Given the description of an element on the screen output the (x, y) to click on. 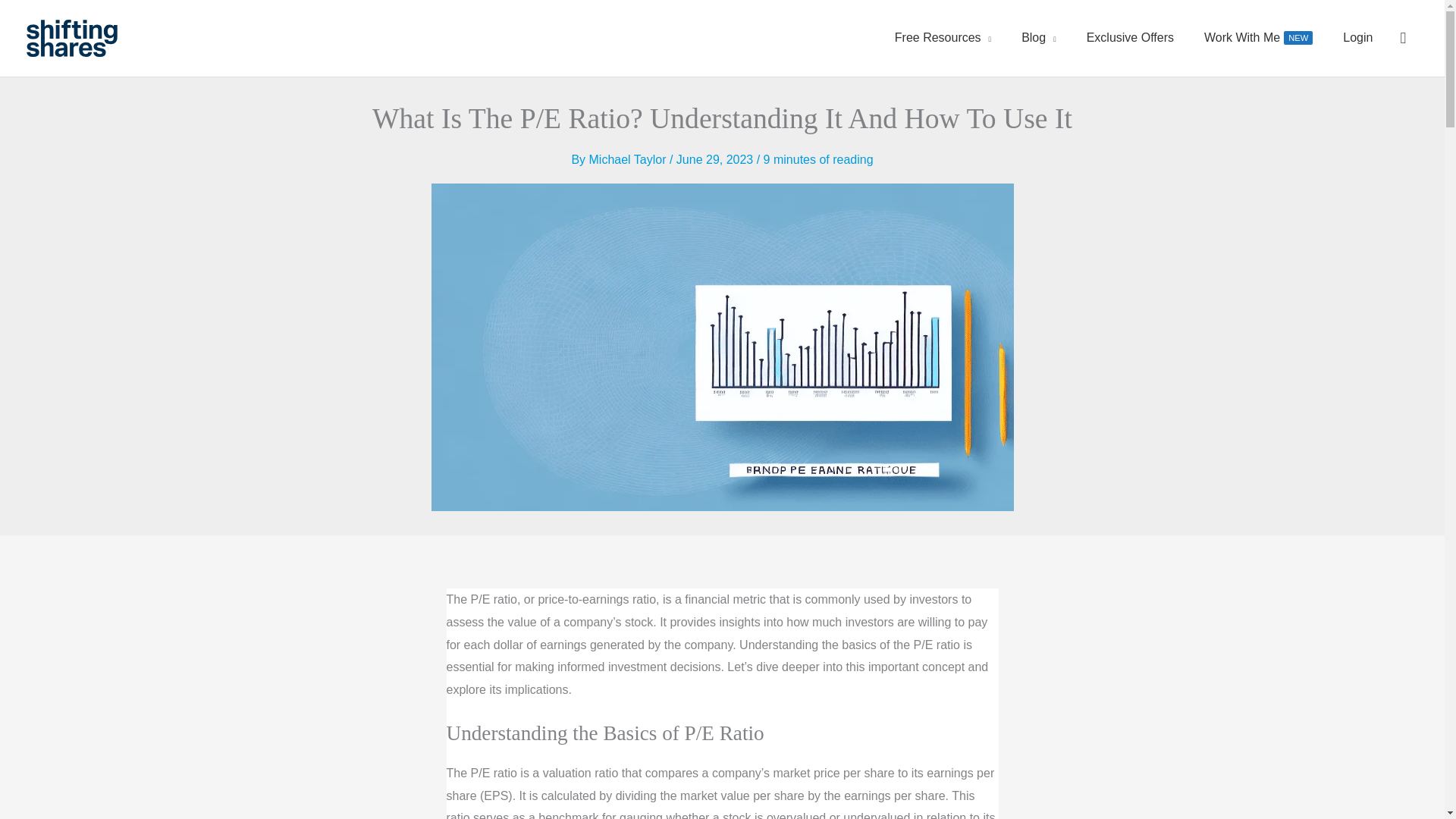
Blog (1038, 37)
View all posts by Michael Taylor (629, 159)
Michael Taylor (629, 159)
Free Resources (1258, 37)
Exclusive Offers (942, 37)
Login (1130, 37)
